Given the description of an element on the screen output the (x, y) to click on. 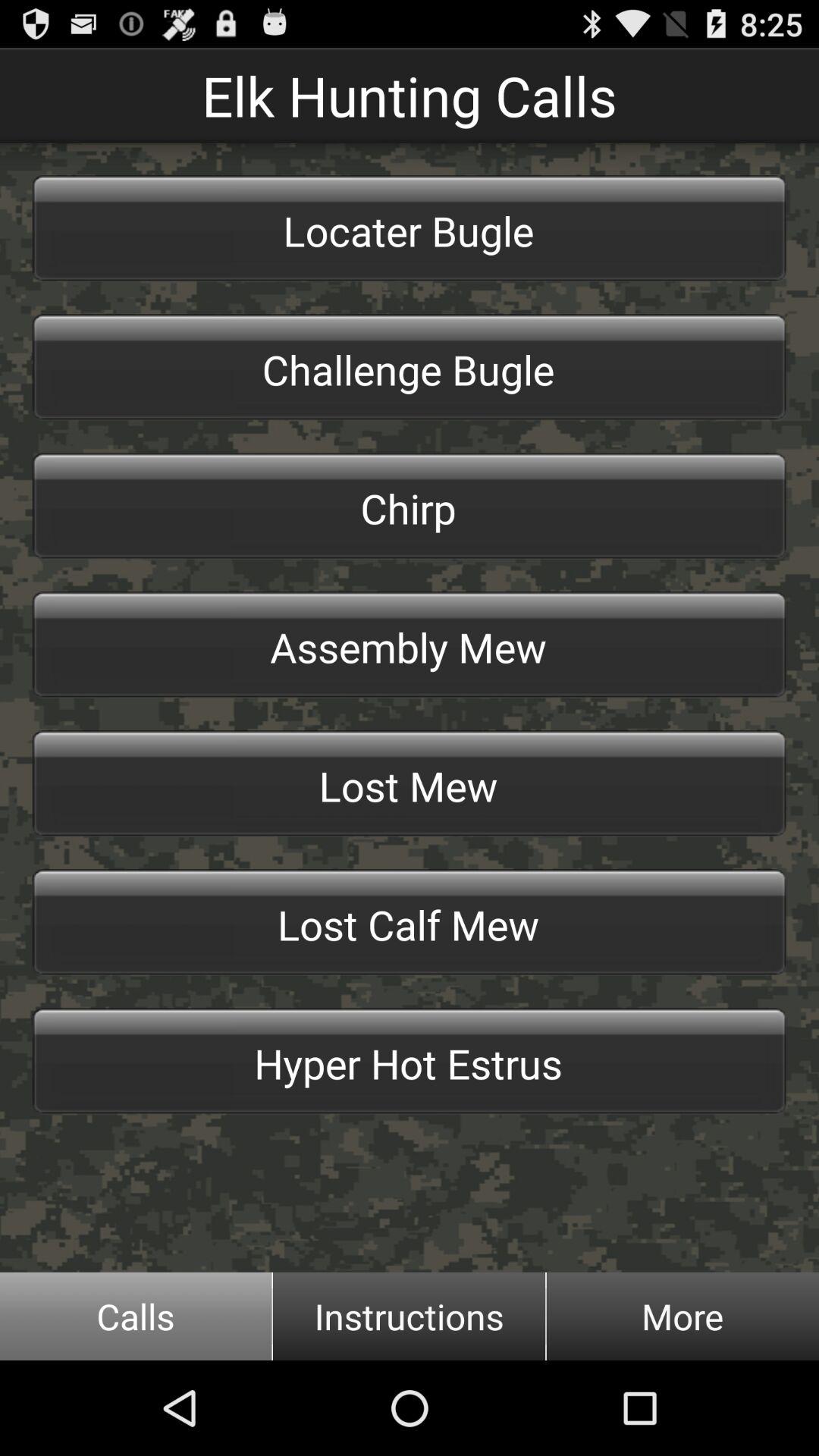
turn on item below the locater bugle (409, 366)
